Given the description of an element on the screen output the (x, y) to click on. 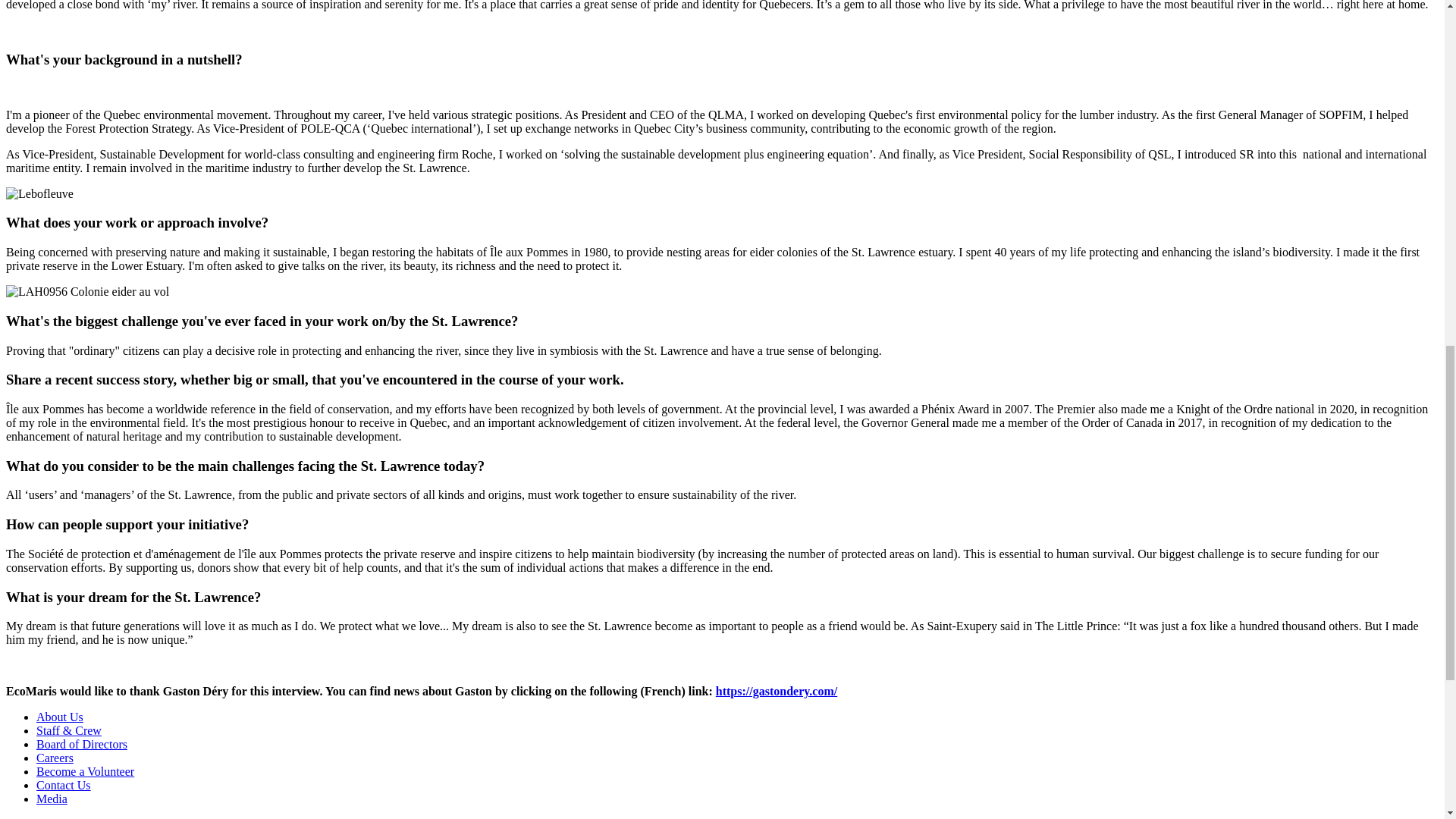
About Us (59, 716)
Careers (55, 757)
Media (51, 798)
Contact Us (63, 784)
Board of Directors (82, 744)
Become a Volunteer (84, 771)
